Given the description of an element on the screen output the (x, y) to click on. 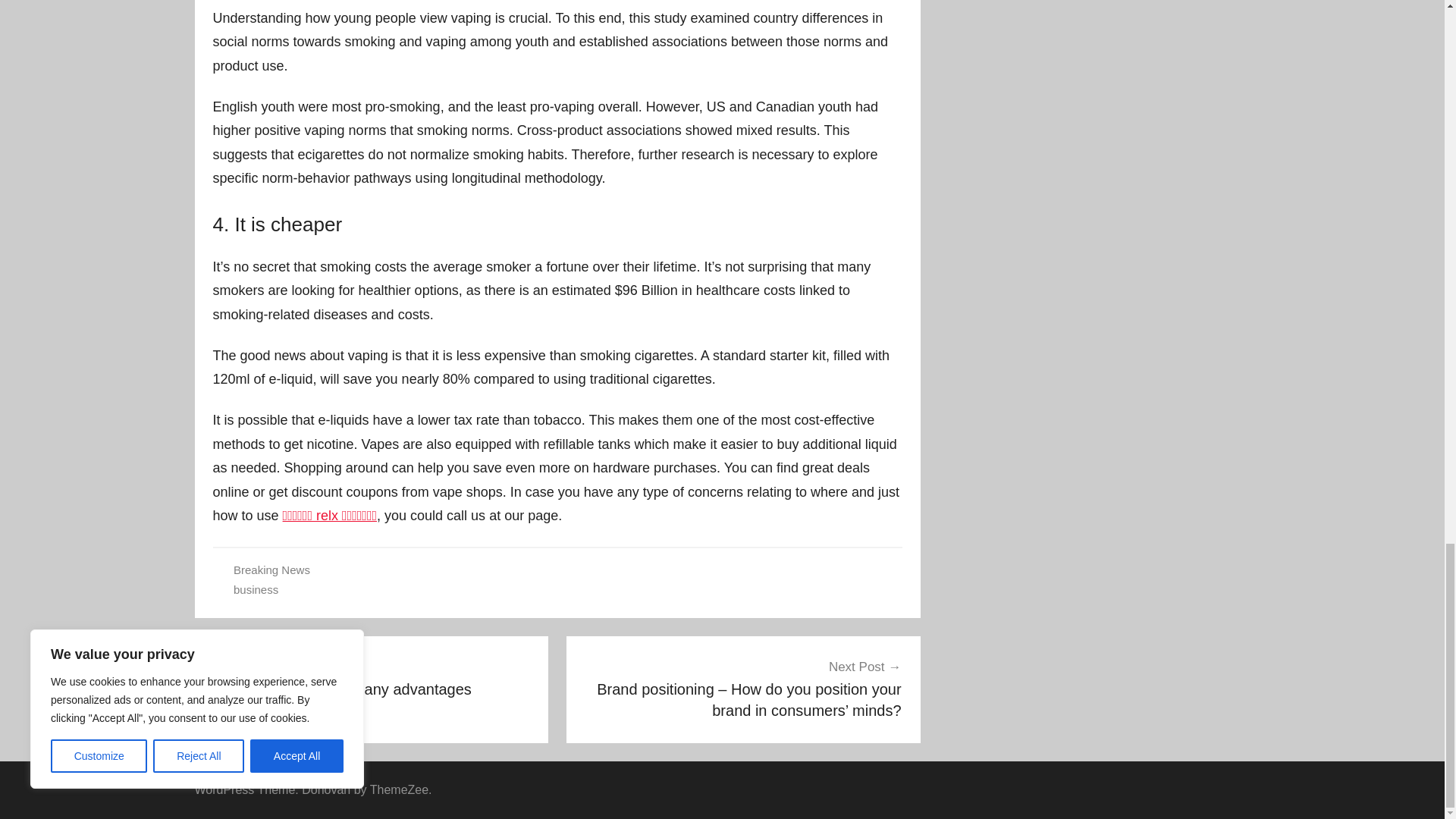
business (255, 589)
Breaking News (371, 678)
